Given the description of an element on the screen output the (x, y) to click on. 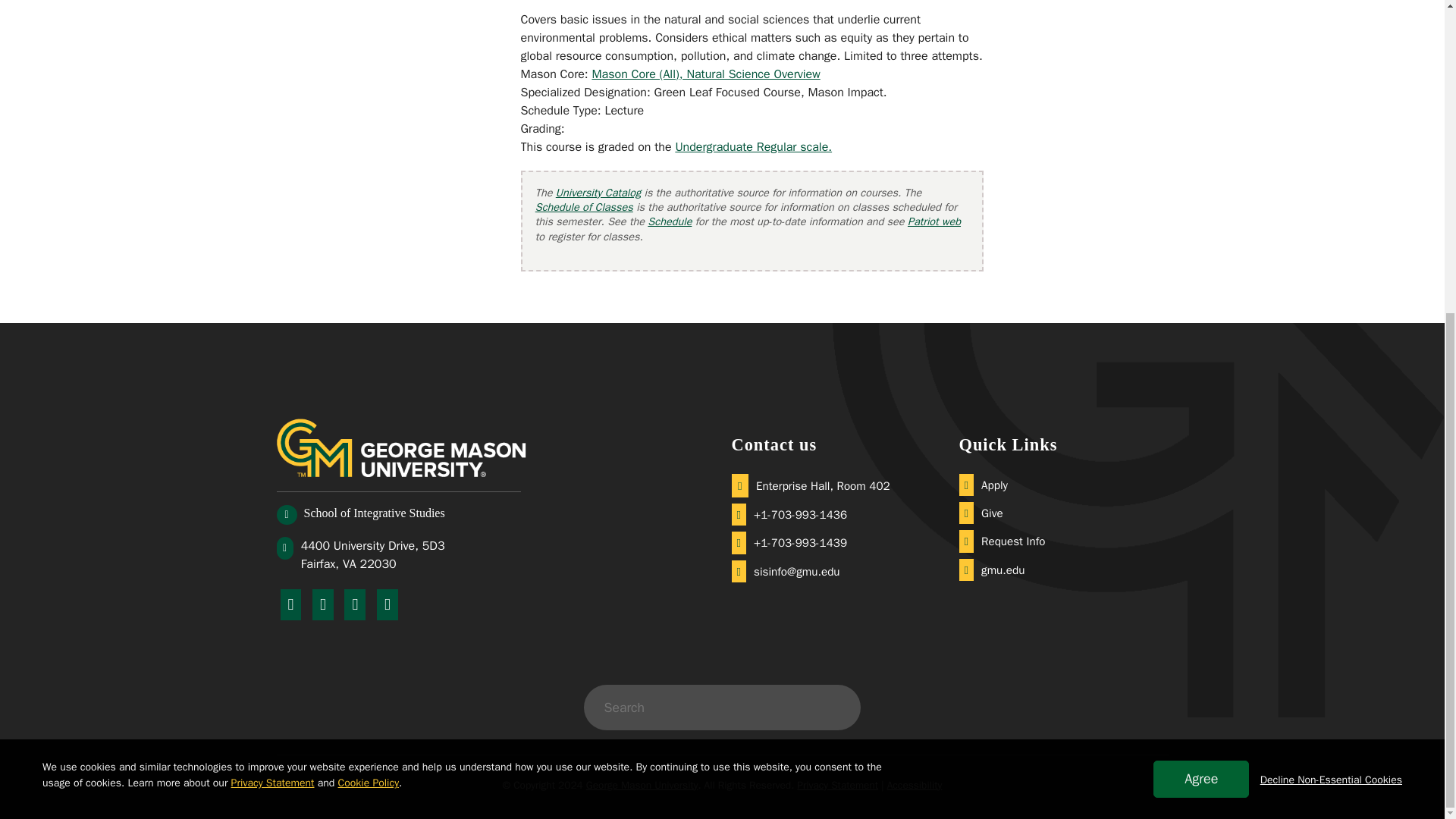
Cookie Policy (367, 282)
George Mason University Privacy Statement (272, 282)
Agree (1201, 279)
Decline Non-Essential Cookies (1331, 279)
George Mason University Cookie Policy (367, 282)
Privacy Statement (272, 282)
